Given the description of an element on the screen output the (x, y) to click on. 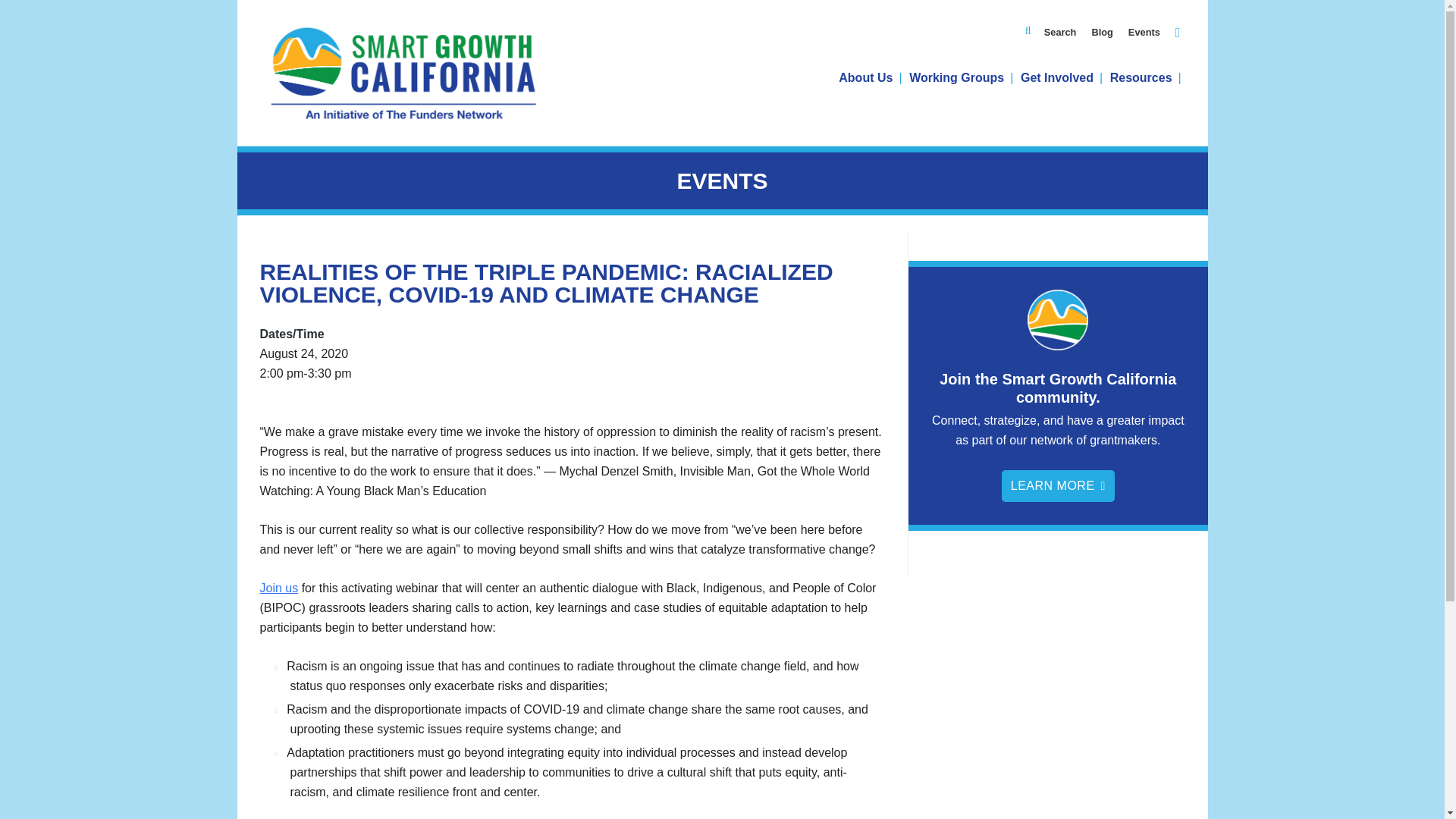
Search (1060, 32)
About Us (869, 77)
Get Involved (1061, 77)
Events (1144, 32)
Smart Growth California (403, 73)
Working Groups (960, 77)
Blog (1101, 32)
